Given the description of an element on the screen output the (x, y) to click on. 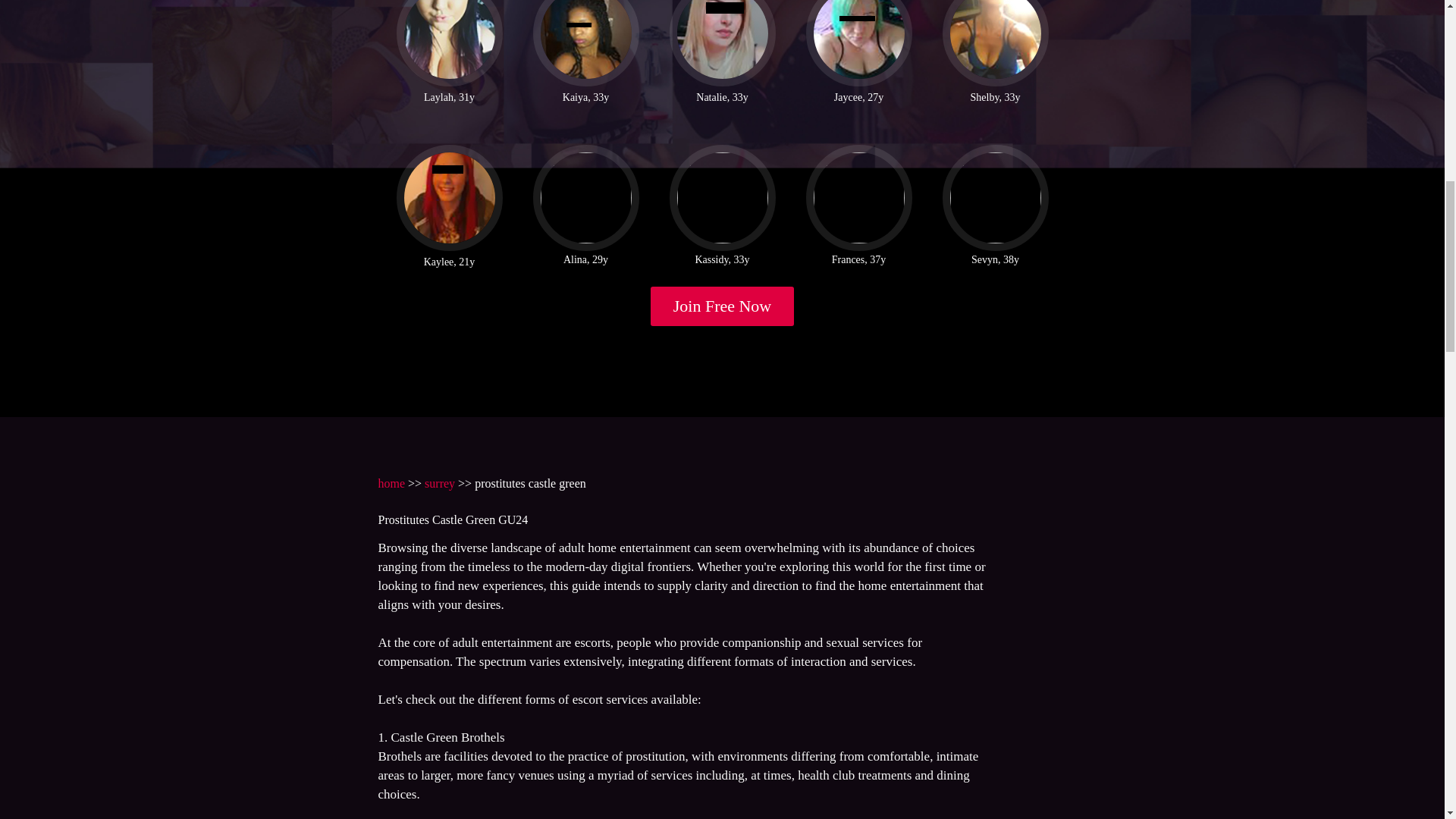
Join Free Now (722, 305)
Join (722, 305)
home (390, 482)
surrey (439, 482)
